Given the description of an element on the screen output the (x, y) to click on. 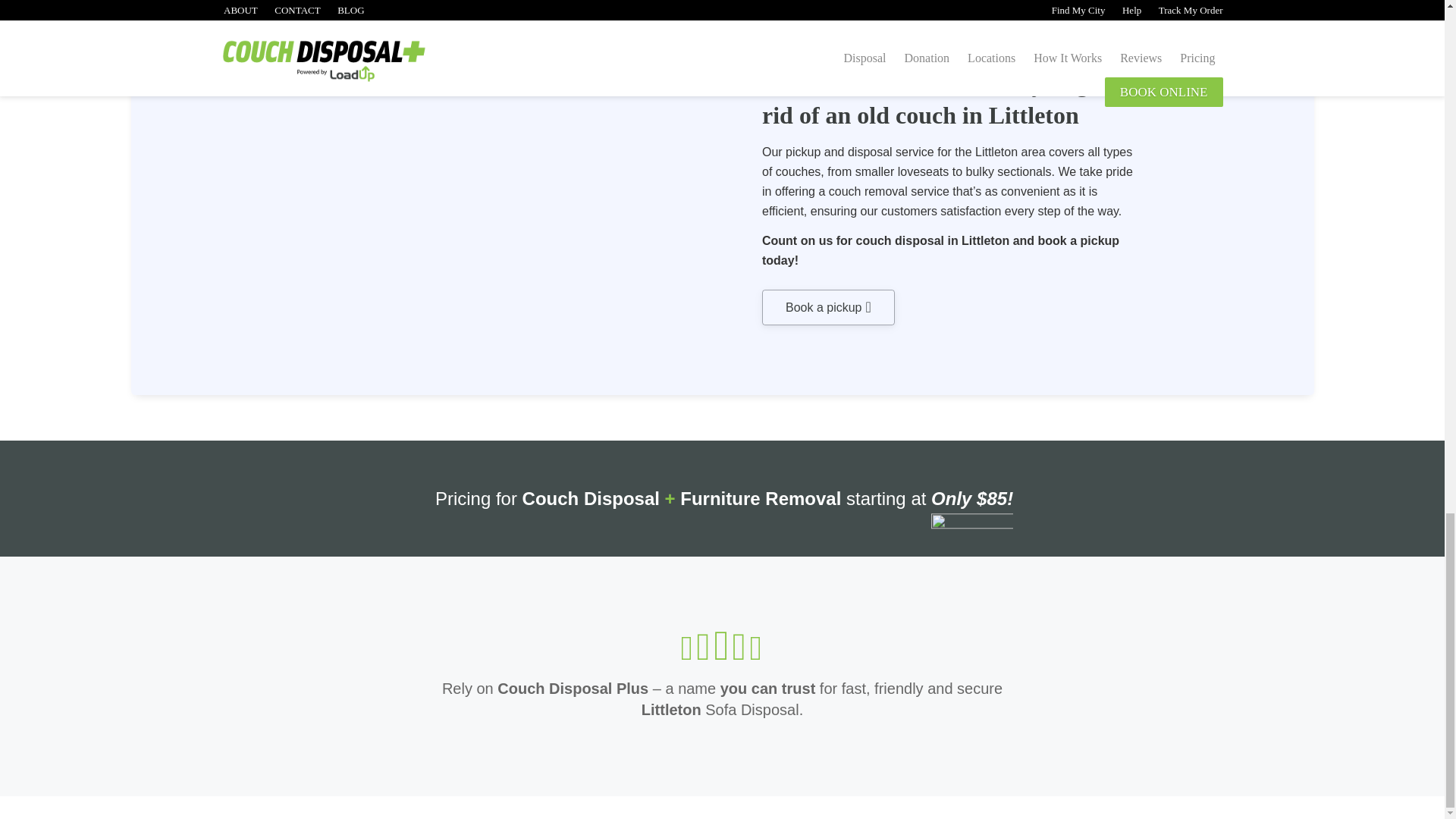
Book couch disposal online (828, 307)
Book a pickup (828, 307)
